Given the description of an element on the screen output the (x, y) to click on. 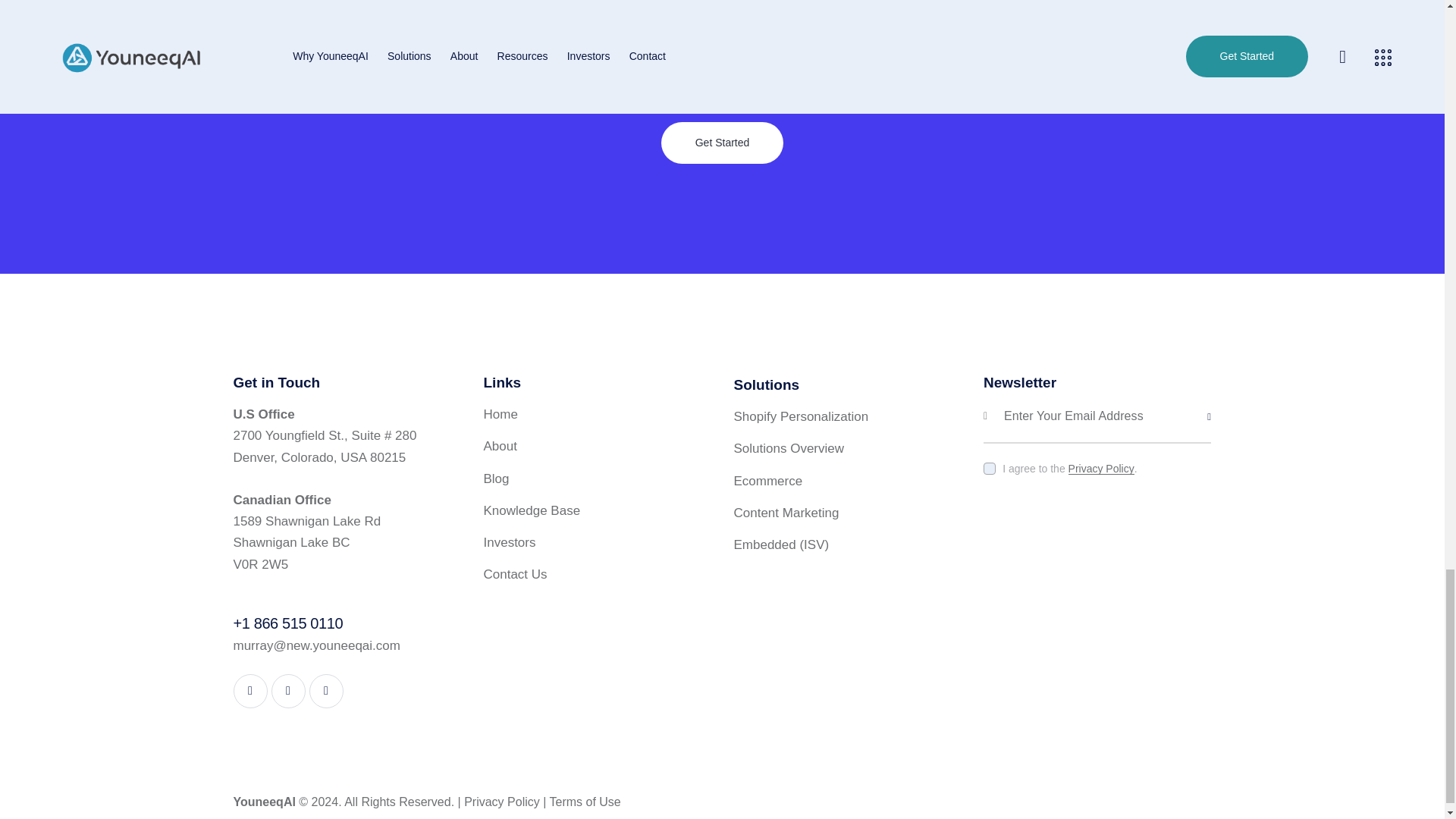
1 (1216, 395)
